Given the description of an element on the screen output the (x, y) to click on. 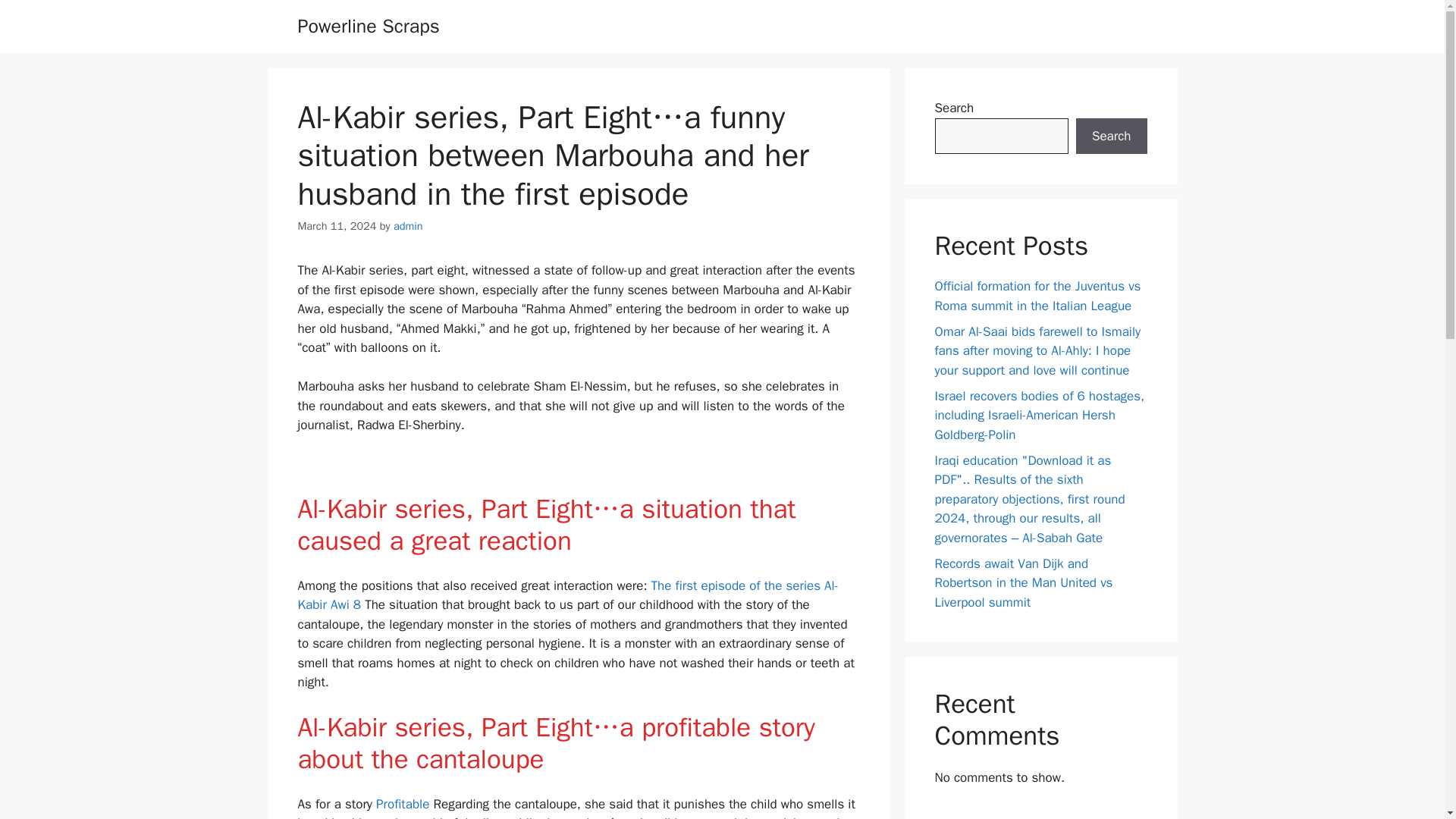
Profitable (403, 804)
Search (1111, 135)
admin (408, 225)
View all posts by admin (408, 225)
The first episode of the series Al-Kabir Awi 8 (567, 595)
Powerline Scraps (368, 25)
